Given the description of an element on the screen output the (x, y) to click on. 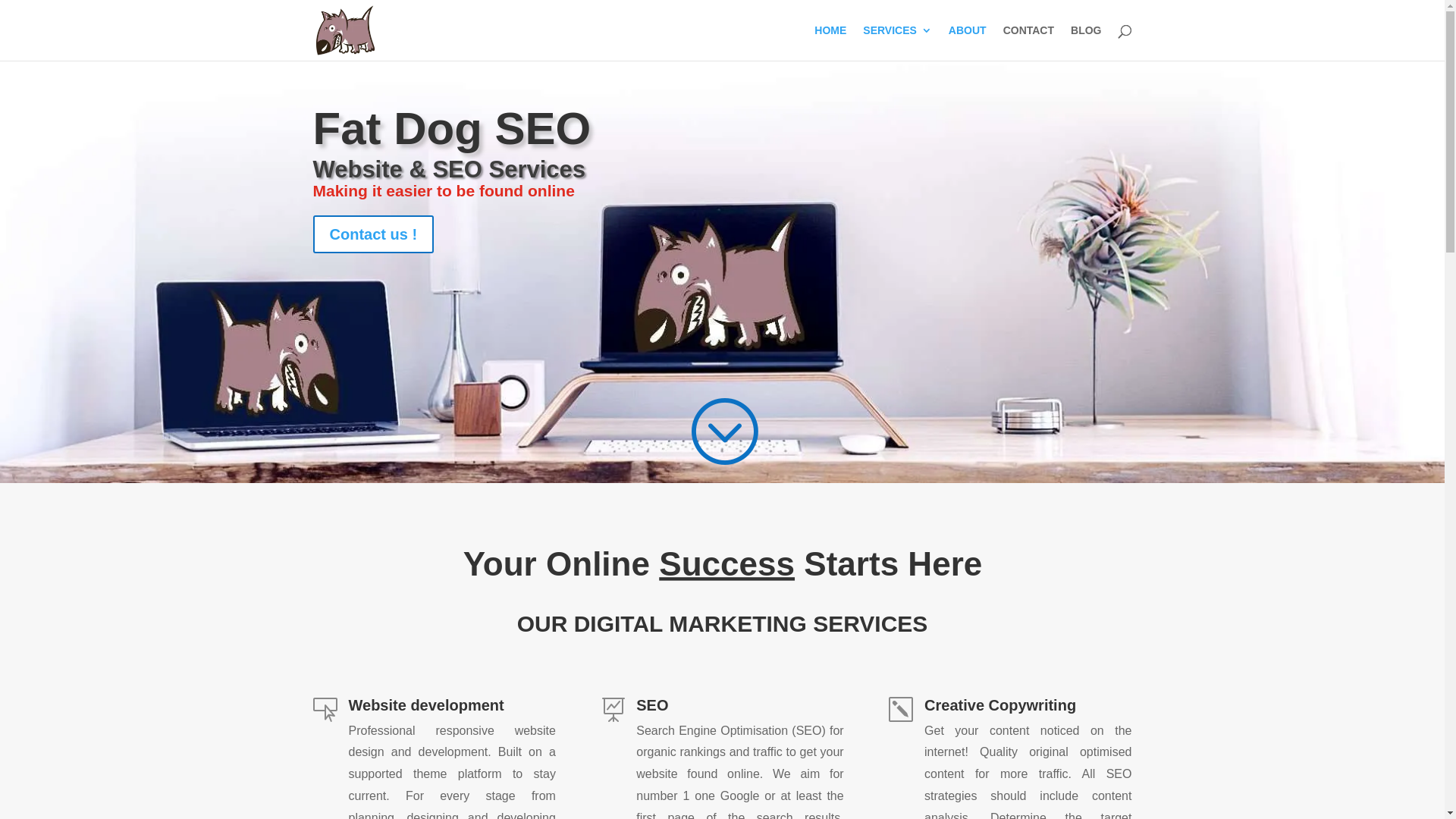
Contact us ! Element type: text (372, 234)
CONTACT Element type: text (1028, 42)
ABOUT Element type: text (967, 42)
HOME Element type: text (830, 42)
SERVICES Element type: text (896, 42)
; Element type: text (722, 430)
BLOG Element type: text (1085, 42)
